Given the description of an element on the screen output the (x, y) to click on. 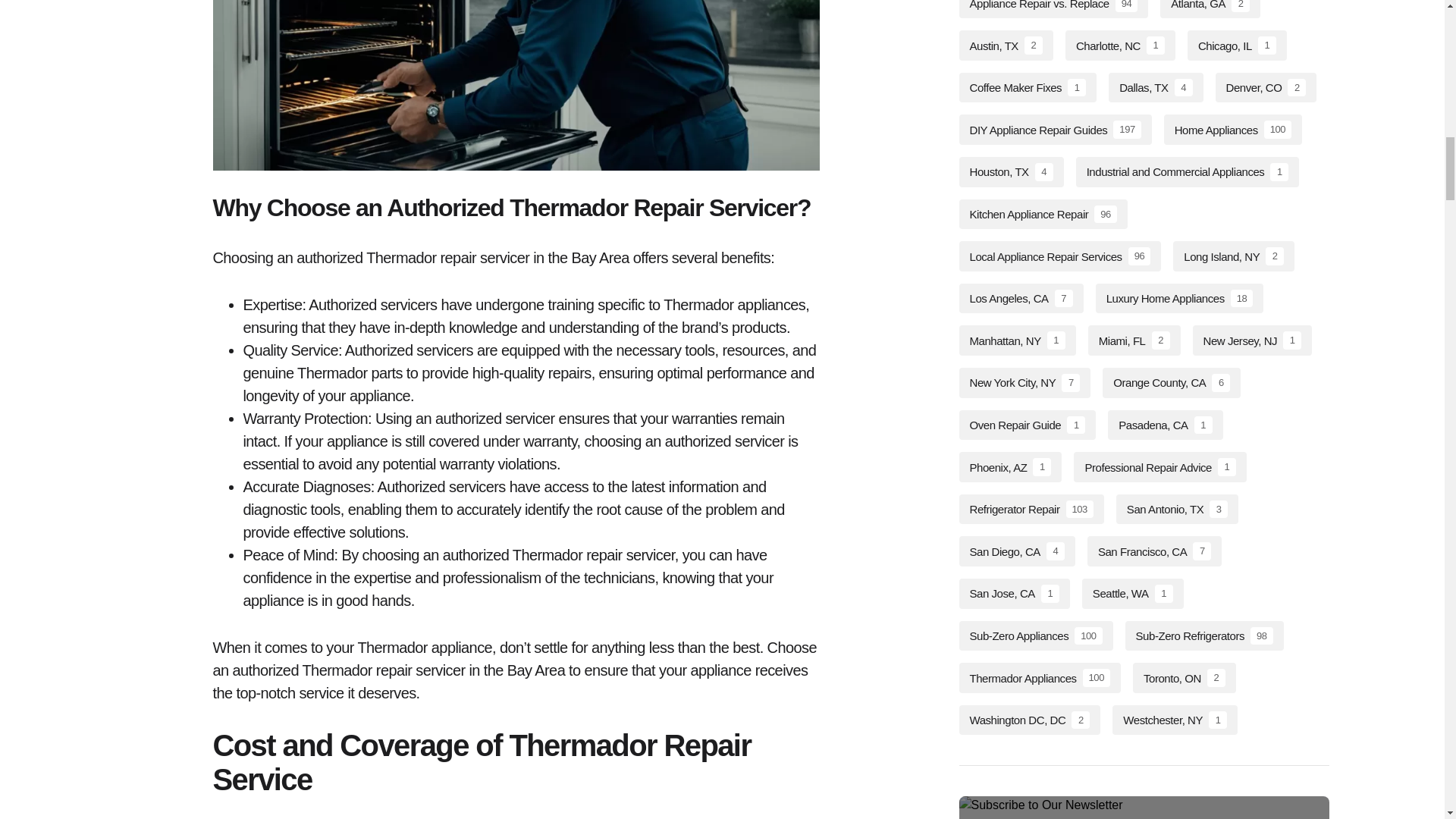
bay area thermador repair (515, 85)
